Given the description of an element on the screen output the (x, y) to click on. 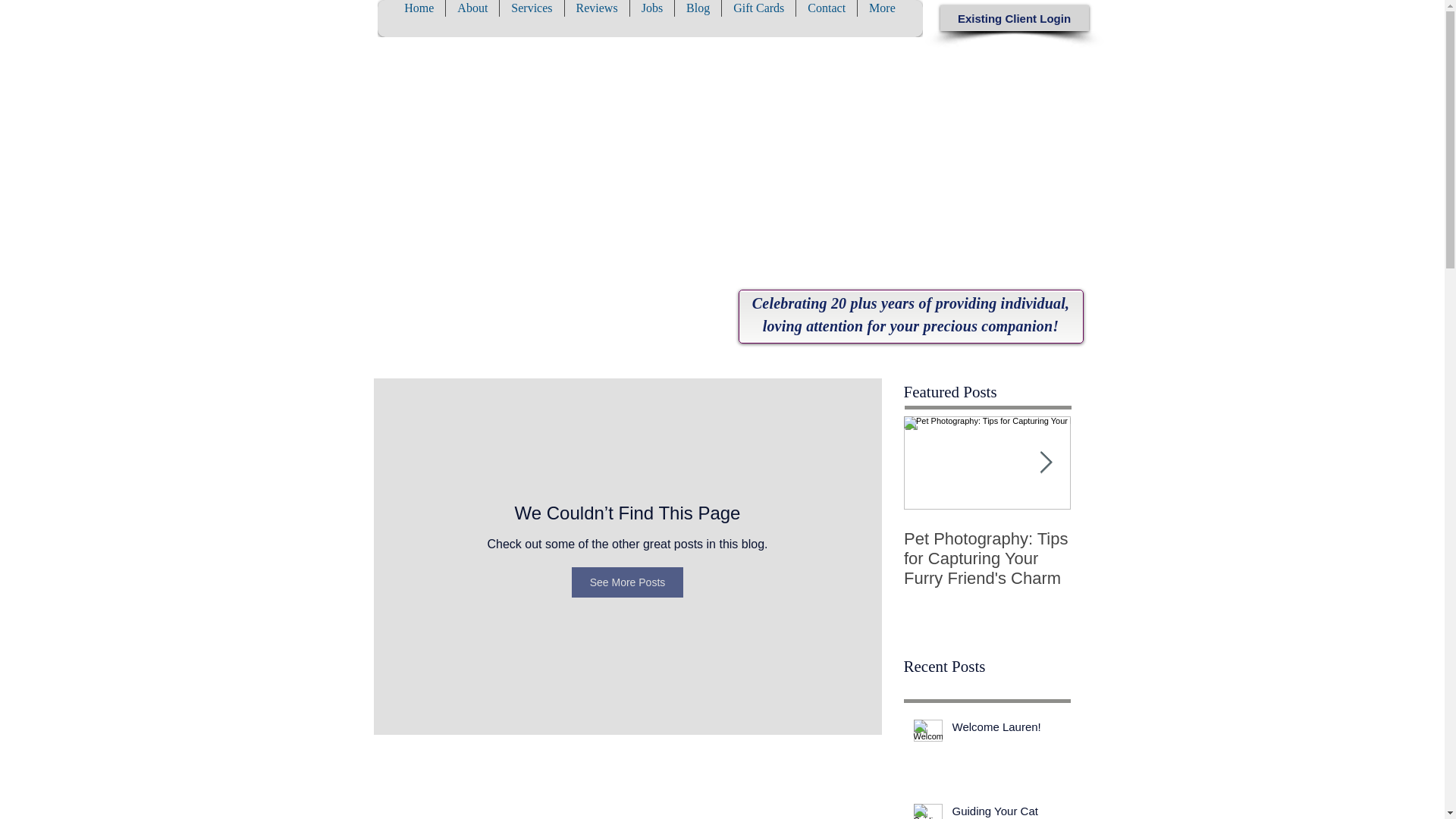
Welcome Meleanie! (1153, 538)
See More Posts (628, 582)
Contact (825, 18)
Welcome Lauren! (1006, 730)
Jobs (651, 18)
Services (531, 18)
Home (419, 18)
Reviews (596, 18)
Blog (697, 18)
Gift Cards (757, 18)
About (472, 18)
